Given the description of an element on the screen output the (x, y) to click on. 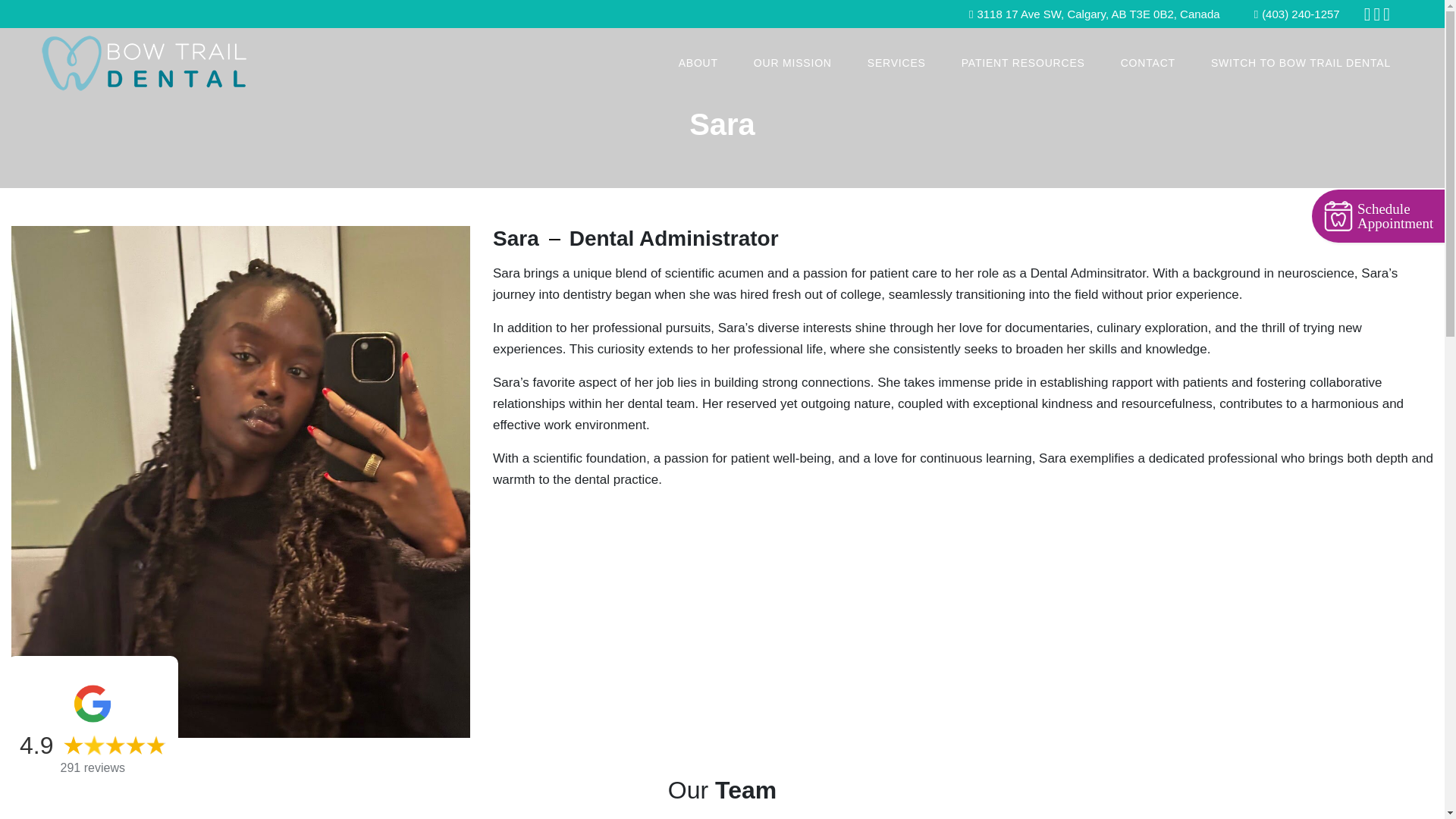
Our Mission (792, 62)
SWITCH TO BOW TRAIL DENTAL (1300, 62)
PATIENT RESOURCES (1023, 62)
CONTACT (1148, 62)
ABOUT (698, 62)
SERVICES (896, 62)
OUR MISSION (792, 62)
3118 17 Ave SW, Calgary, AB T3E 0B2, Canada (1094, 14)
About (698, 62)
Services (896, 62)
